Given the description of an element on the screen output the (x, y) to click on. 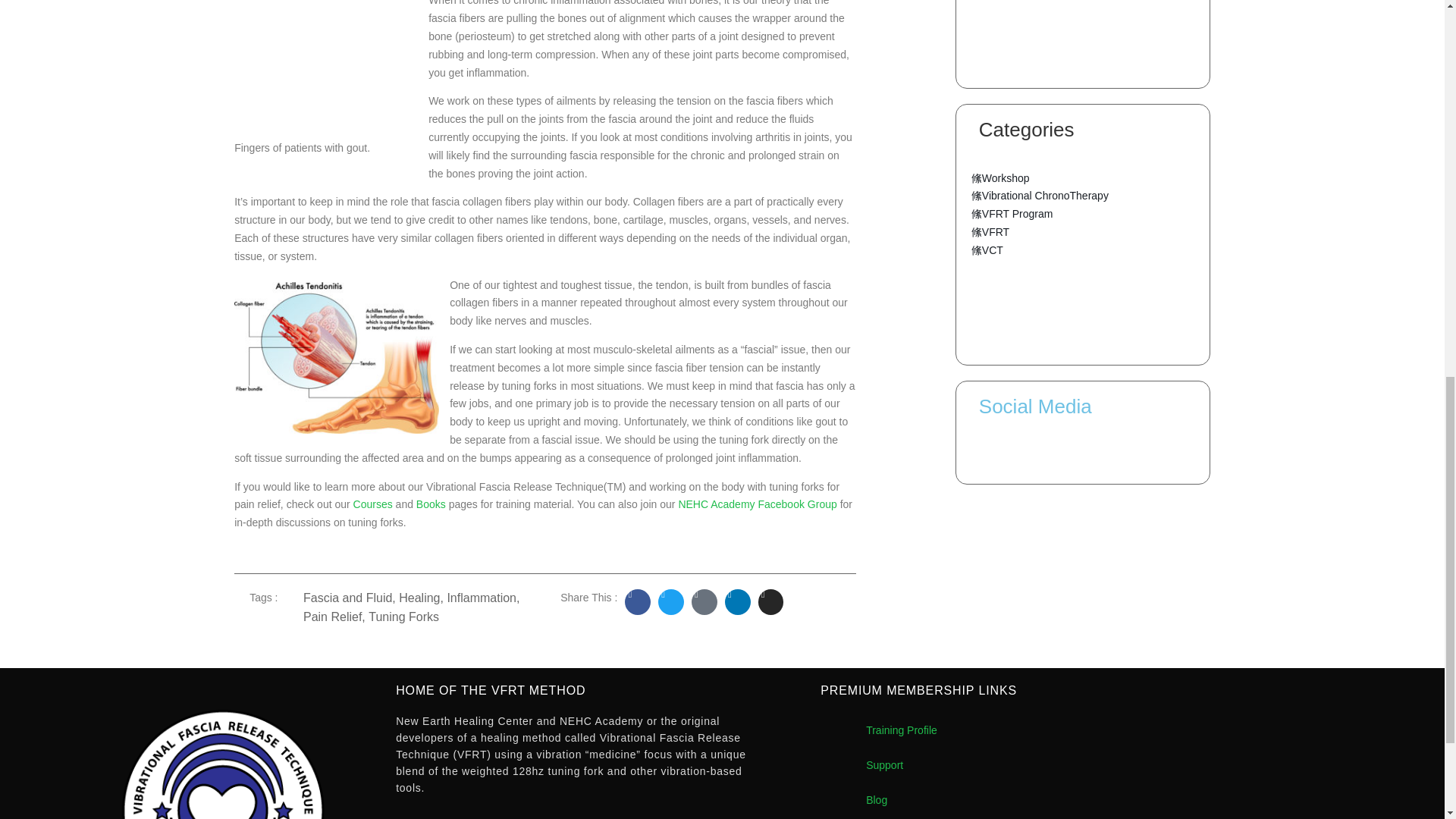
VCT (987, 250)
VFRT Program (1011, 214)
Workshop (1000, 178)
Courses (373, 503)
NEHC Academy Facebook Group (756, 503)
VFRT (990, 232)
Vibrational ChronoTherapy (1039, 196)
Books (430, 503)
